Given the description of an element on the screen output the (x, y) to click on. 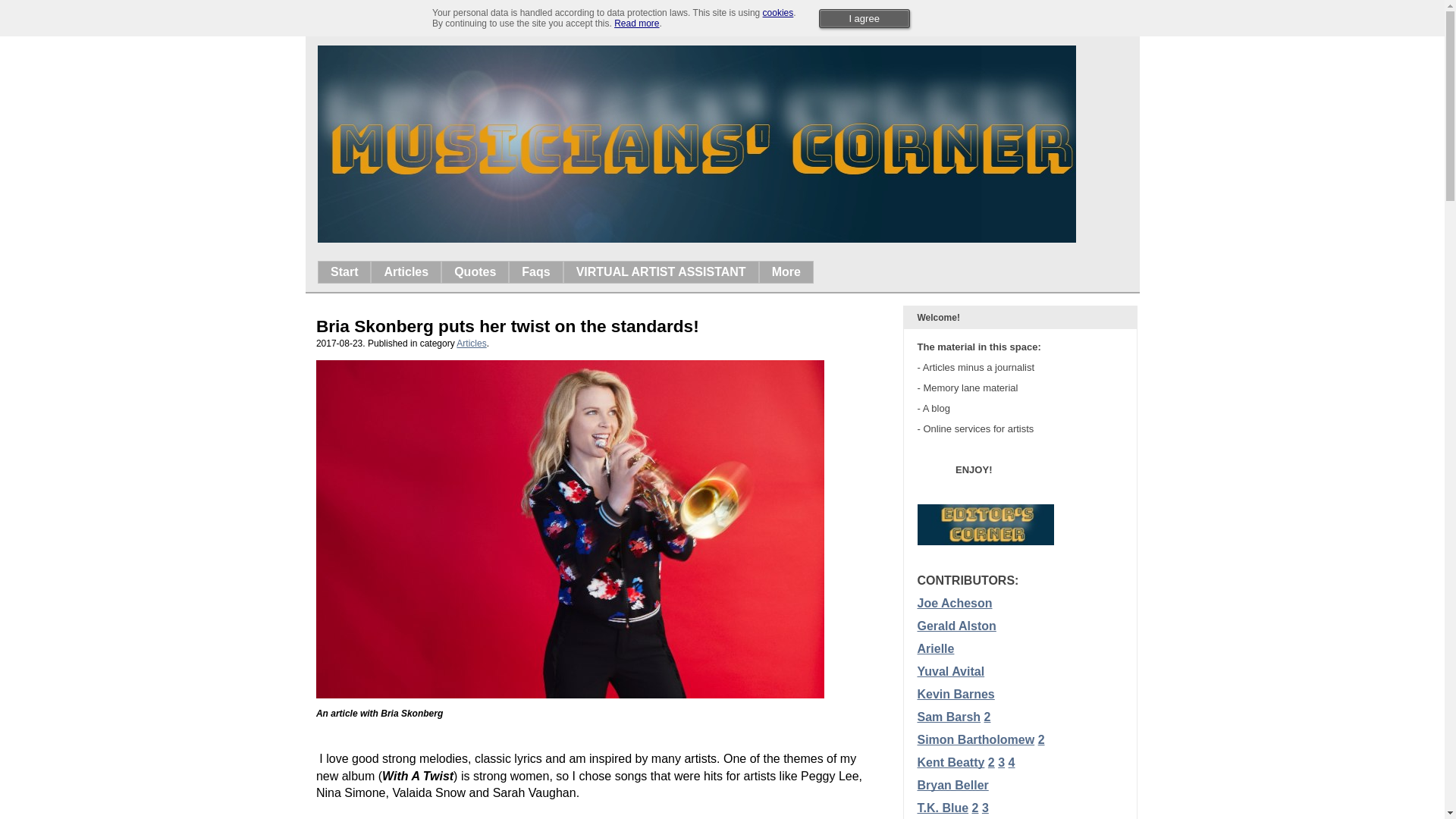
Yuval Avital (951, 671)
Arielle (936, 648)
Sam Barsh (949, 716)
Read more (636, 23)
Articles (406, 272)
cookies (777, 12)
Kent Beatty (951, 762)
An artist platform with exclusive content (492, 19)
VIRTUAL ARTIST ASSISTANT (660, 272)
T.K. Blue (943, 807)
